Given the description of an element on the screen output the (x, y) to click on. 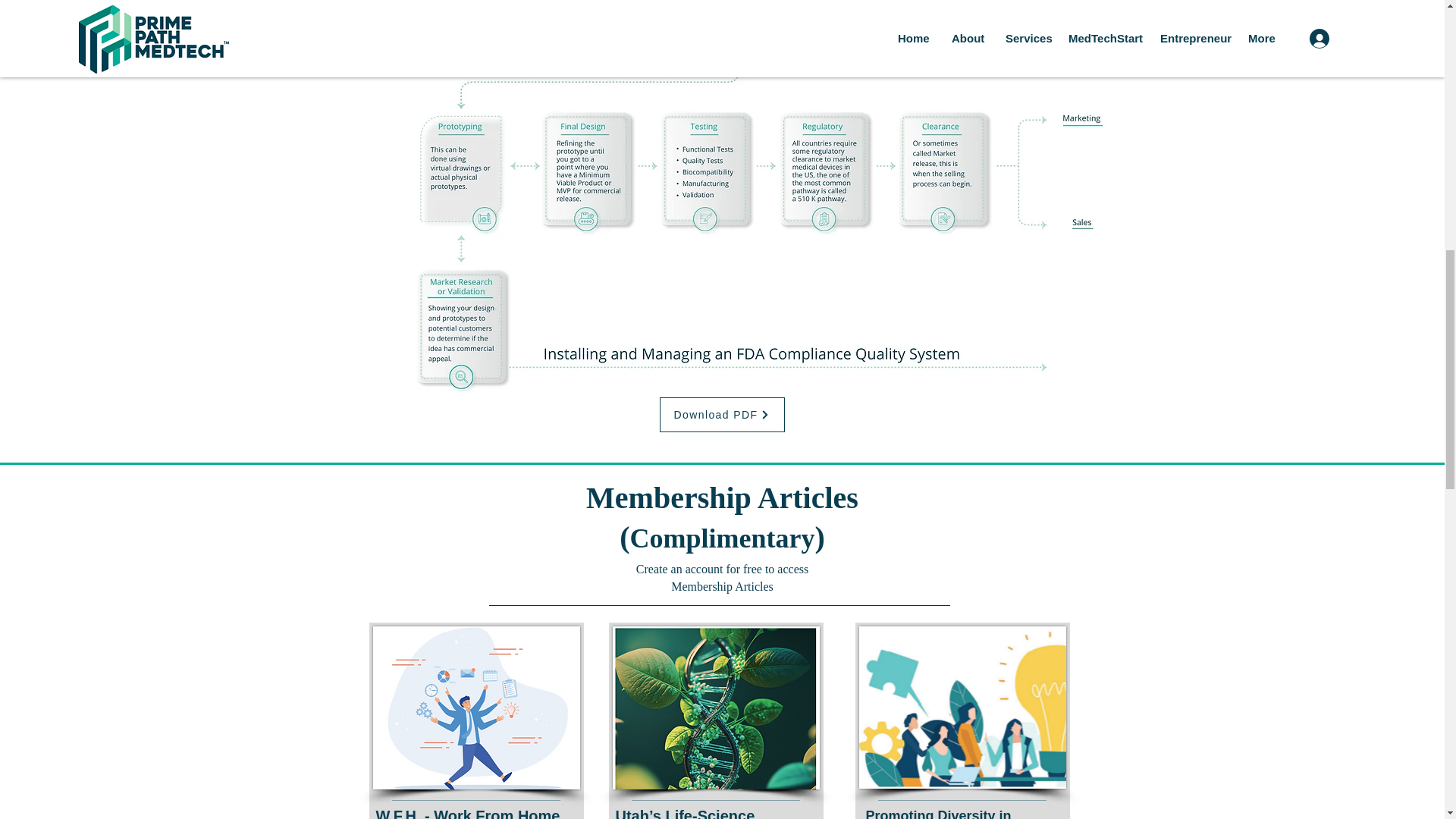
W.F.H. - Work From Home (467, 813)
Download PDF (721, 414)
Promoting Diversity in Clinical Trials (938, 813)
